Given the description of an element on the screen output the (x, y) to click on. 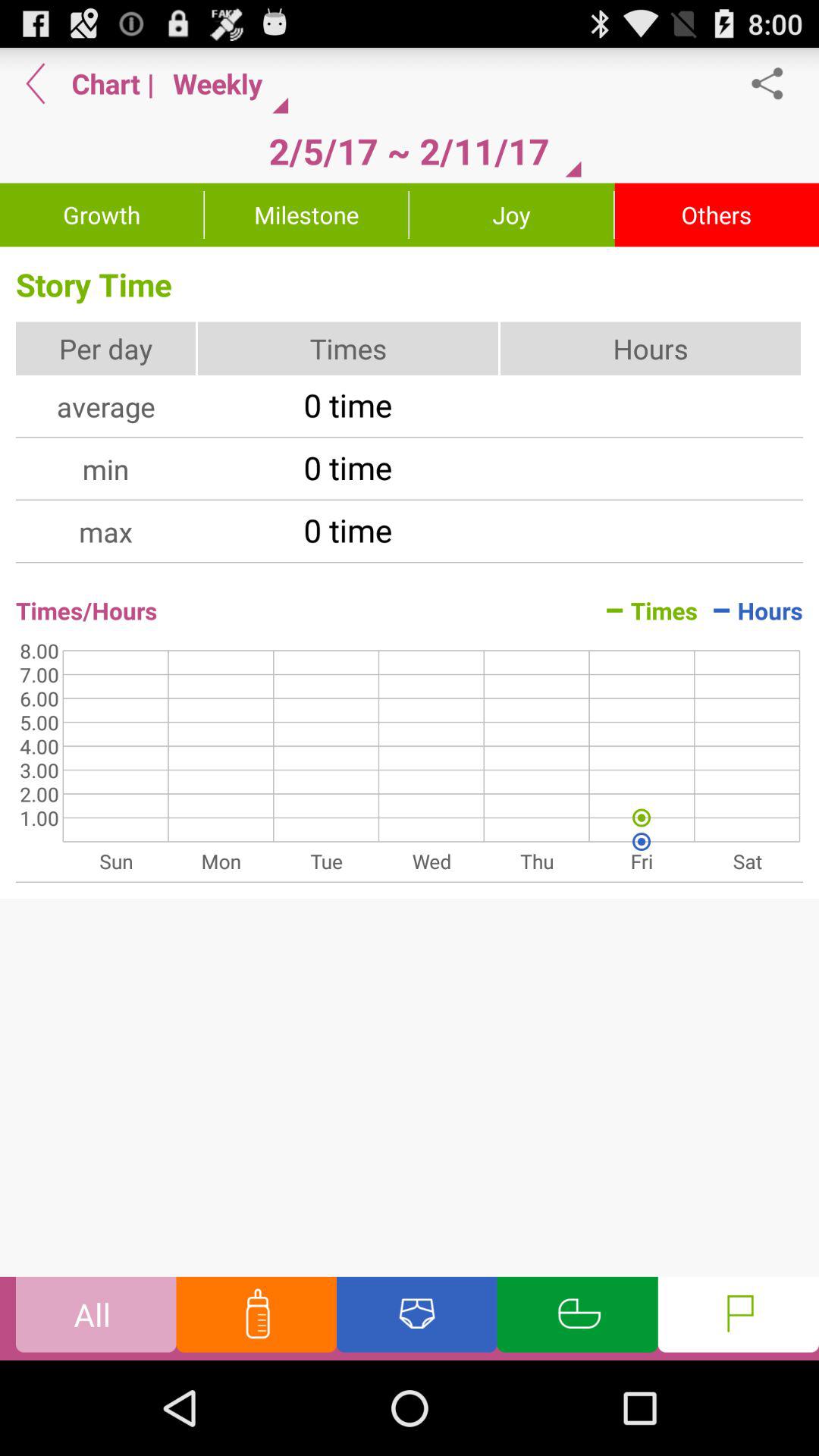
tap app next to chart app (35, 83)
